Given the description of an element on the screen output the (x, y) to click on. 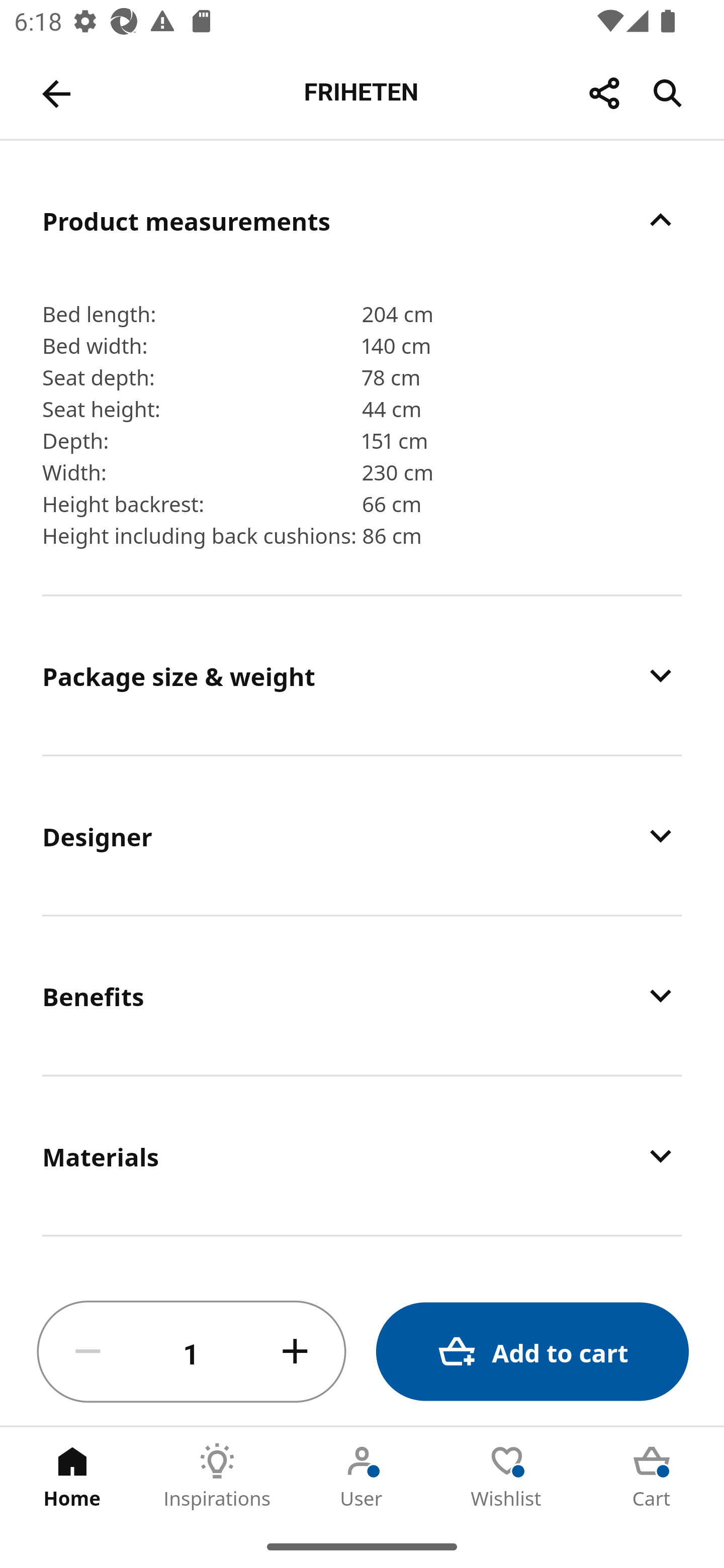
Product measurements (361, 219)
Package size & weight (361, 674)
Designer (361, 835)
Benefits (361, 995)
Materials (361, 1156)
Add to cart (531, 1352)
1 (191, 1352)
Home
Tab 1 of 5 (72, 1476)
Inspirations
Tab 2 of 5 (216, 1476)
User
Tab 3 of 5 (361, 1476)
Wishlist
Tab 4 of 5 (506, 1476)
Cart
Tab 5 of 5 (651, 1476)
